Given the description of an element on the screen output the (x, y) to click on. 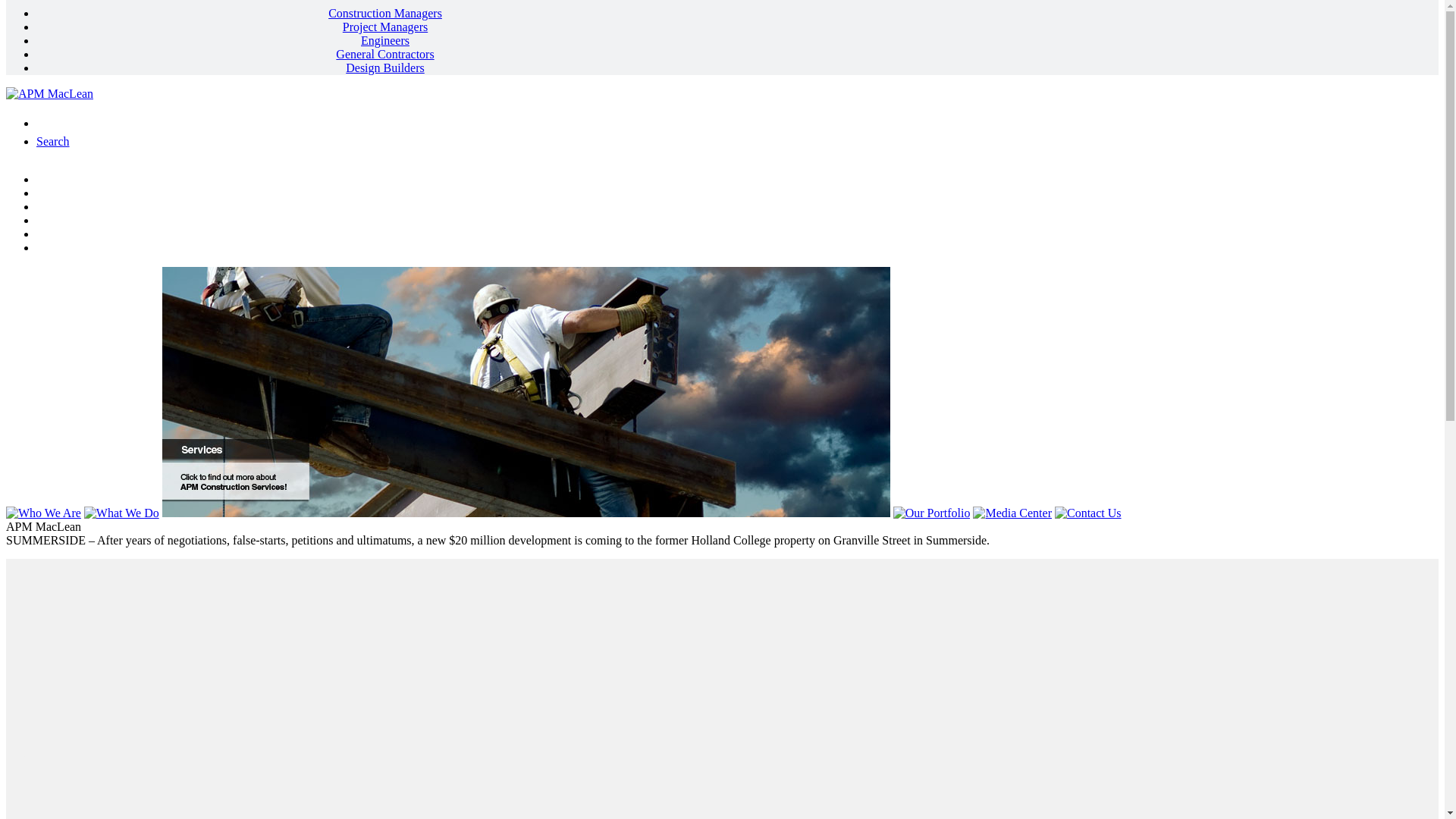
media Element type: text (737, 234)
General Contractors Element type: text (384, 53)
contact us Element type: text (737, 247)
Search Element type: text (52, 140)
Search apm.ca Element type: text (107, 123)
portfolio Element type: text (737, 220)
who we are Element type: text (737, 179)
Engineers Element type: text (384, 40)
what we do Element type: text (737, 193)
Construction Managers Element type: text (385, 12)
Project Managers Element type: text (384, 26)
Design Builders Element type: text (384, 67)
services Element type: text (737, 206)
